Given the description of an element on the screen output the (x, y) to click on. 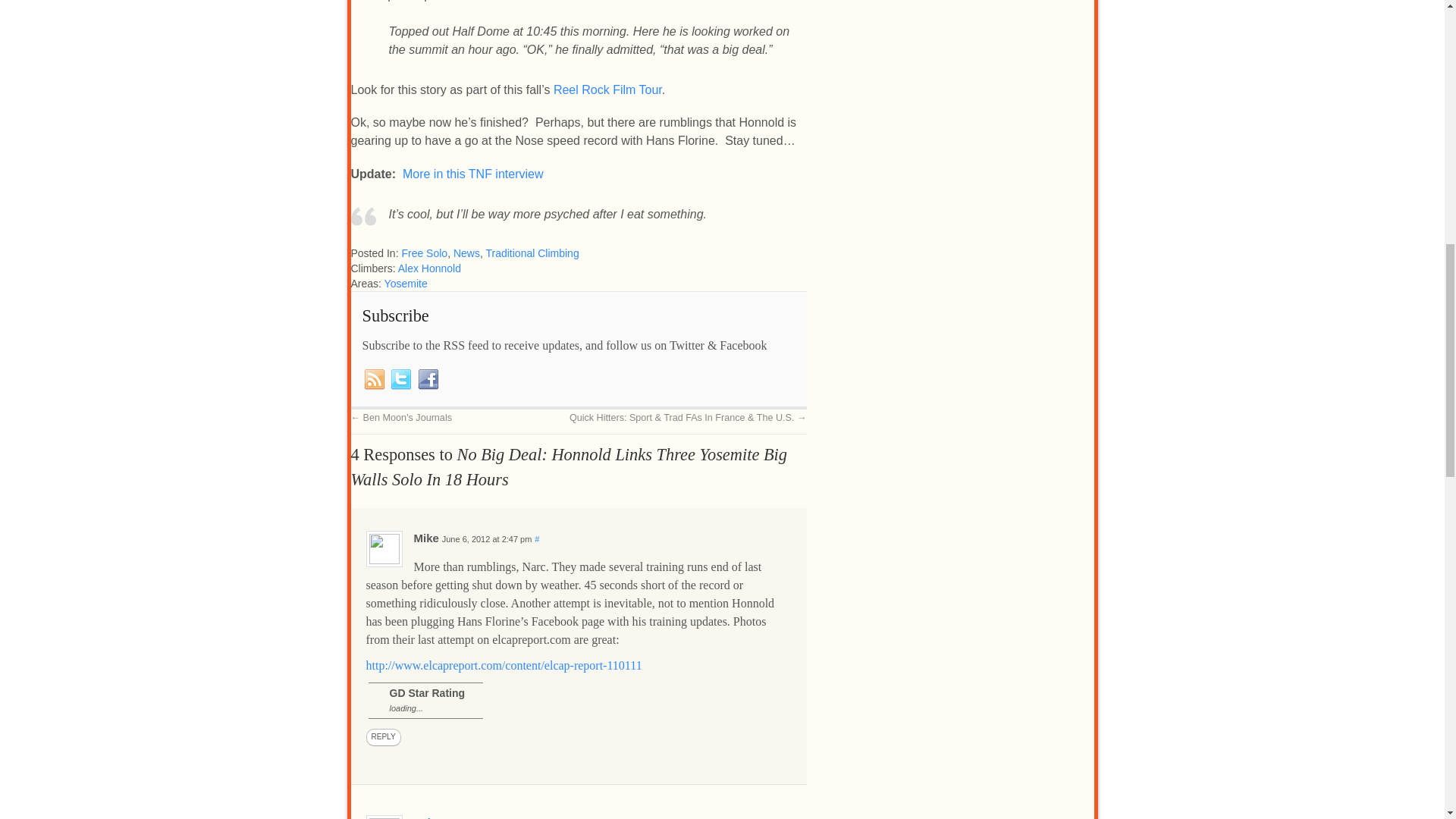
Reel Rock Film Tour (607, 89)
Free Solo (423, 253)
Connect on Facebook (428, 378)
More in this TNF interview (473, 173)
Alex Honnold (429, 268)
Traditional Climbing (531, 253)
Yosemite (406, 283)
Follow us on Twitter (400, 378)
News (466, 253)
Subscribe to our RSS feed (374, 378)
REPLY (382, 737)
